Given the description of an element on the screen output the (x, y) to click on. 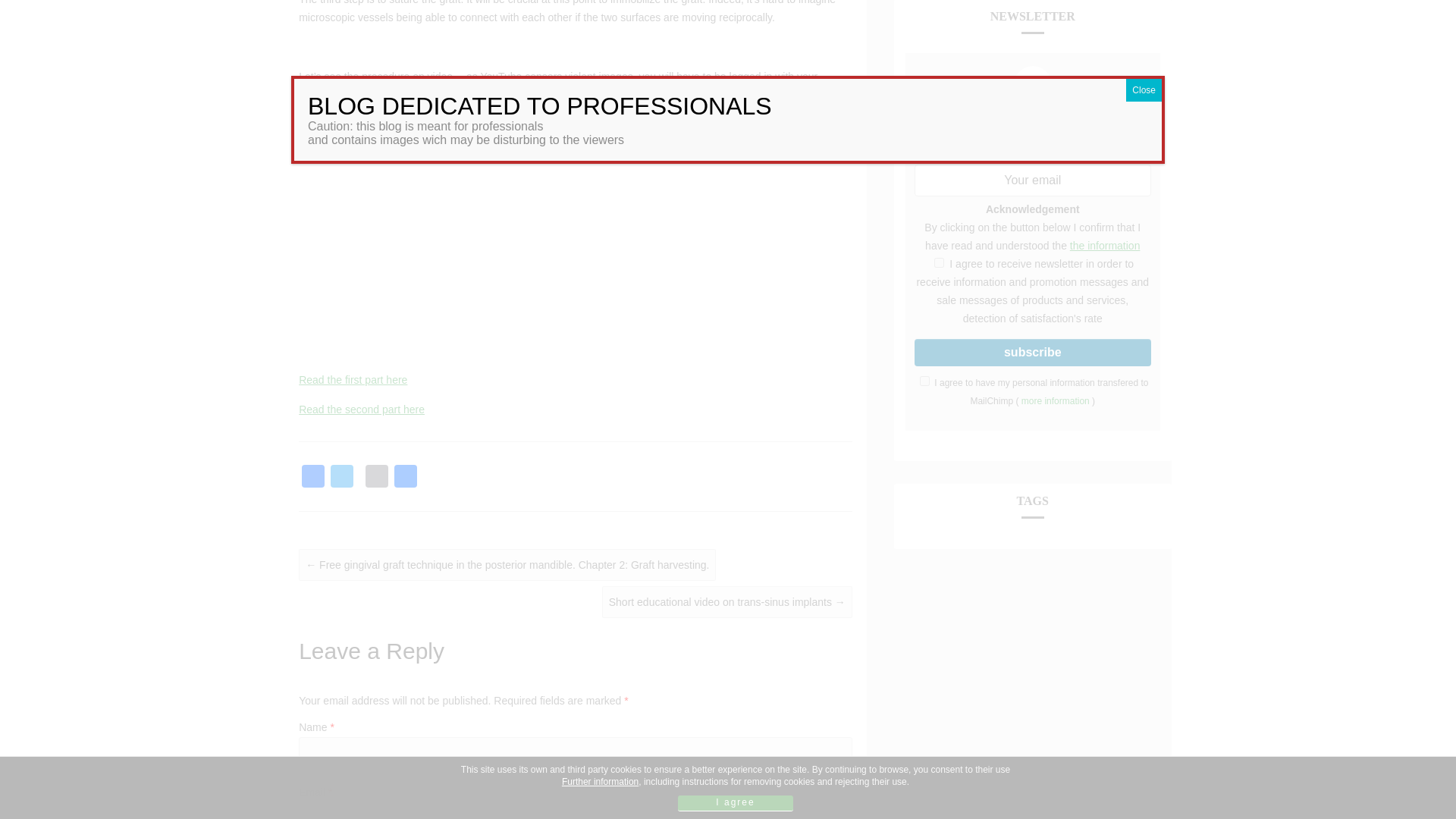
Subscribe (1032, 352)
